Given the description of an element on the screen output the (x, y) to click on. 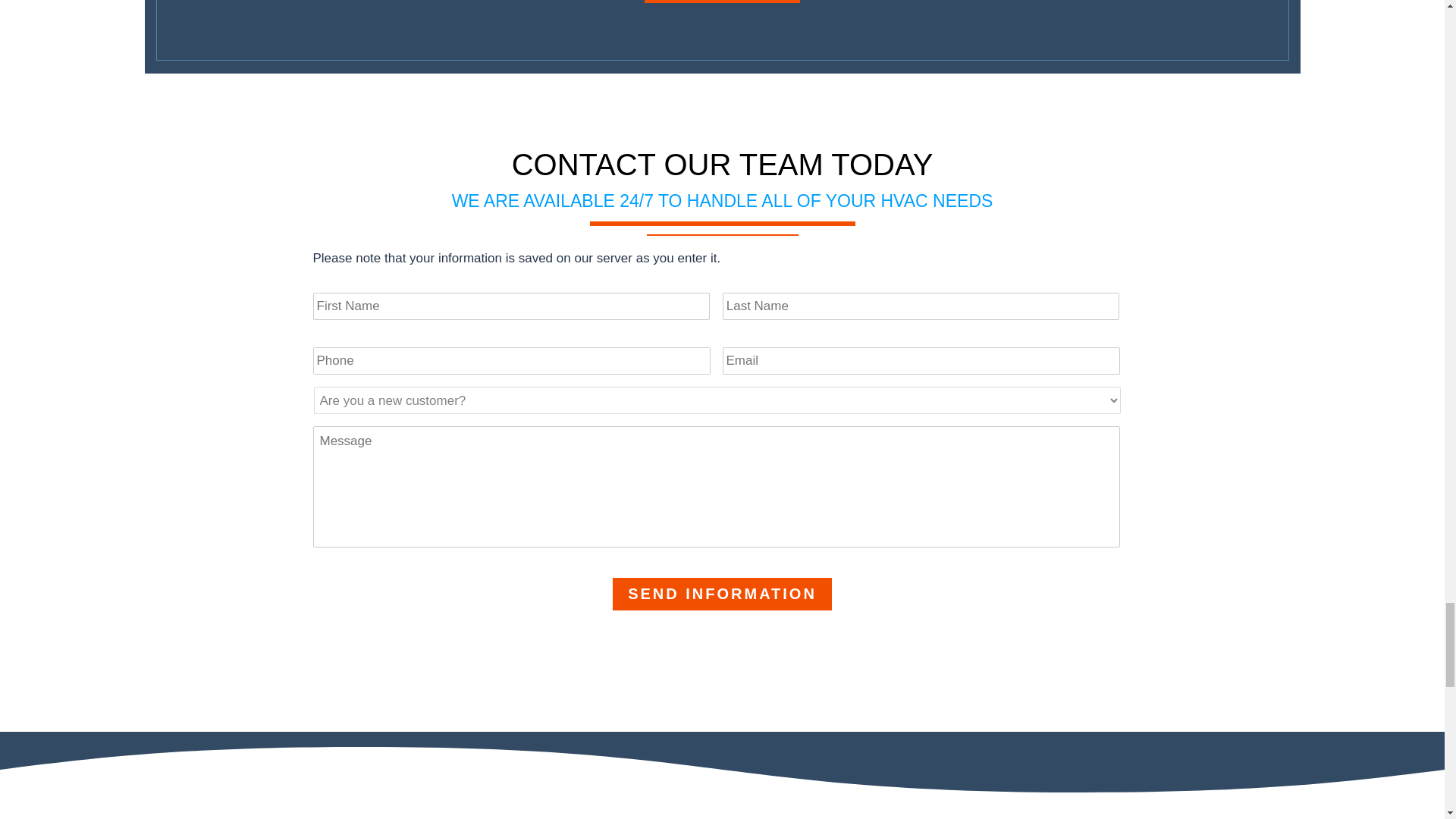
SEND INFORMATION (721, 594)
